Given the description of an element on the screen output the (x, y) to click on. 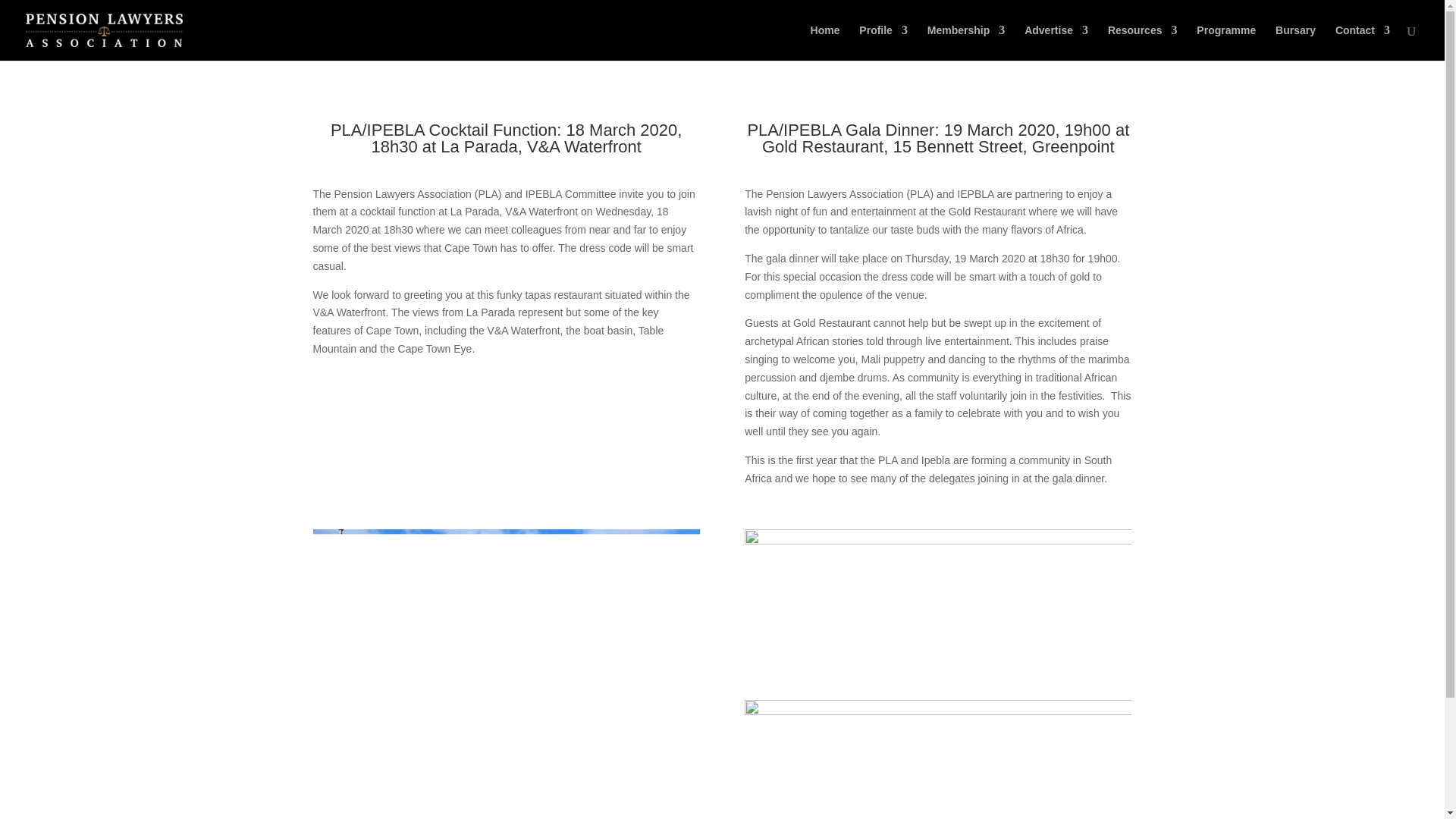
Profile (883, 42)
Membership (965, 42)
Programme (1225, 42)
Home (825, 42)
Bursary (1295, 42)
Advertise (1056, 42)
Resources (1142, 42)
Contact (1362, 42)
